Given the description of an element on the screen output the (x, y) to click on. 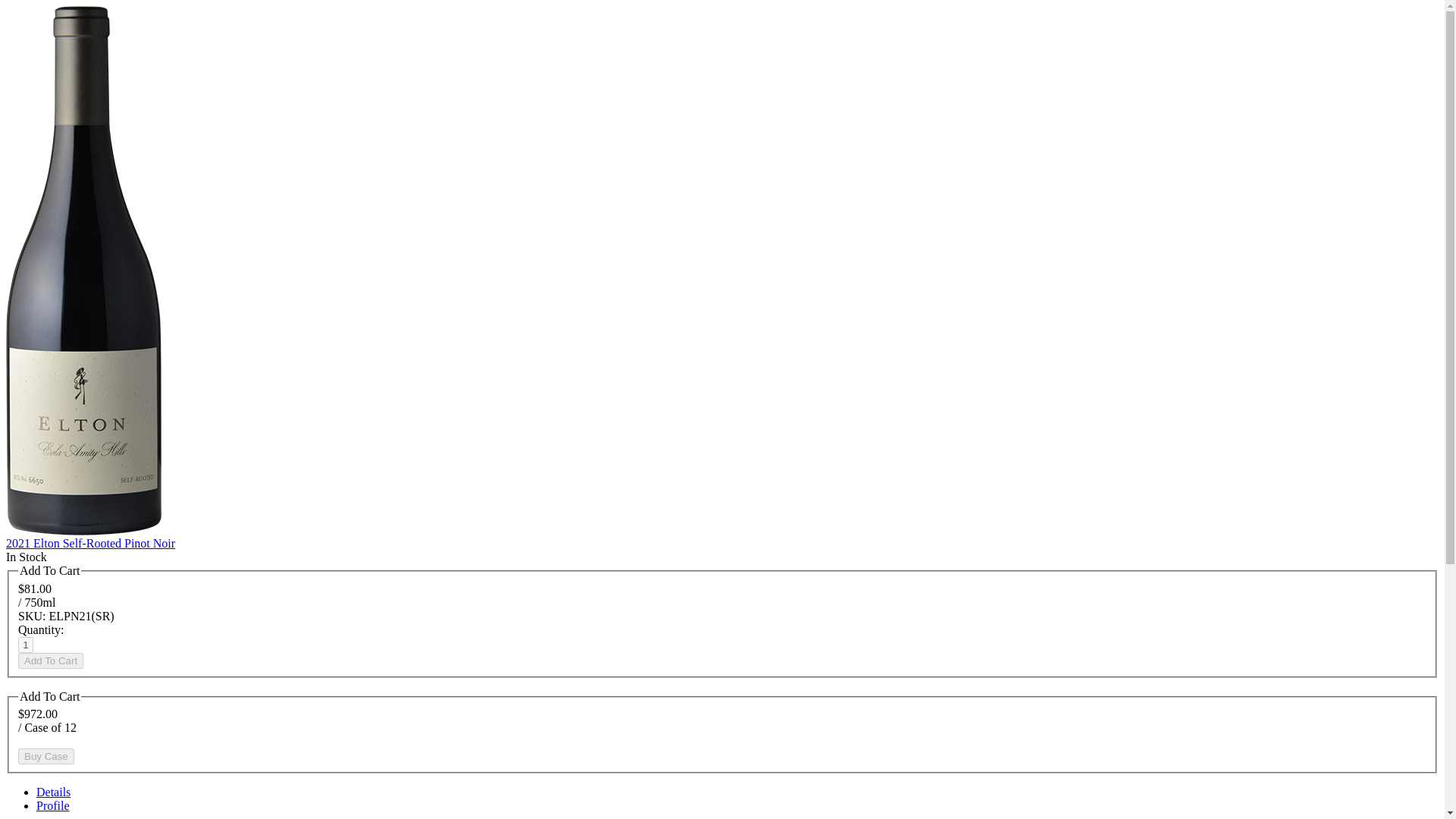
2021 Elton Self-Rooted Pinot Noir (89, 543)
Profile (52, 805)
1 (25, 644)
Buy Case (45, 756)
Add To Cart (49, 660)
Details (52, 791)
